Given the description of an element on the screen output the (x, y) to click on. 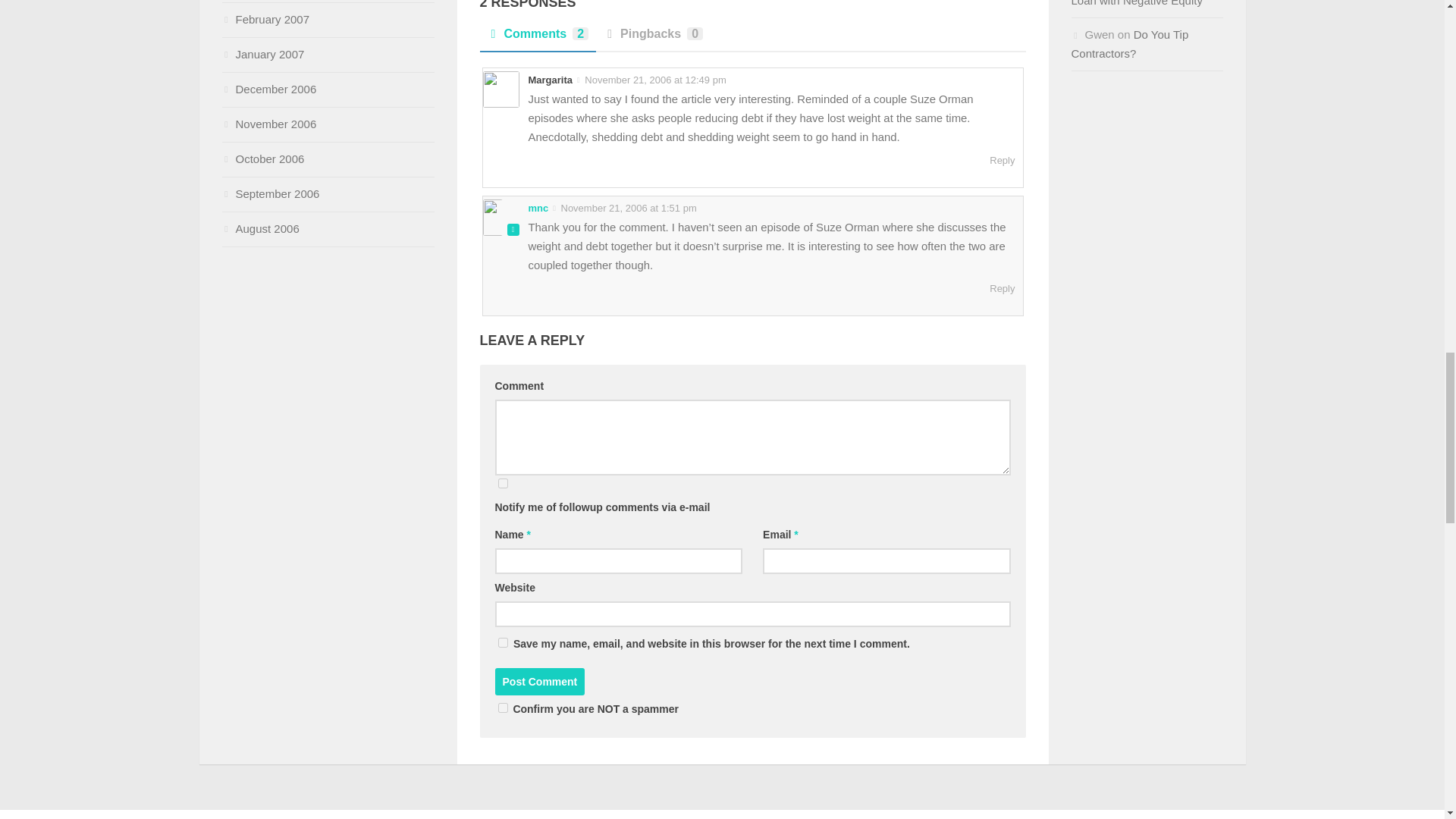
Pingbacks0 (652, 38)
Post Comment (540, 681)
Reply (1002, 288)
Comments2 (537, 38)
mnc (537, 207)
Reply (1002, 160)
November 21, 2006 at 1:51 pm (627, 207)
on (501, 707)
November 21, 2006 at 12:49 pm (654, 79)
yes (501, 642)
subscribe (501, 483)
